Given the description of an element on the screen output the (x, y) to click on. 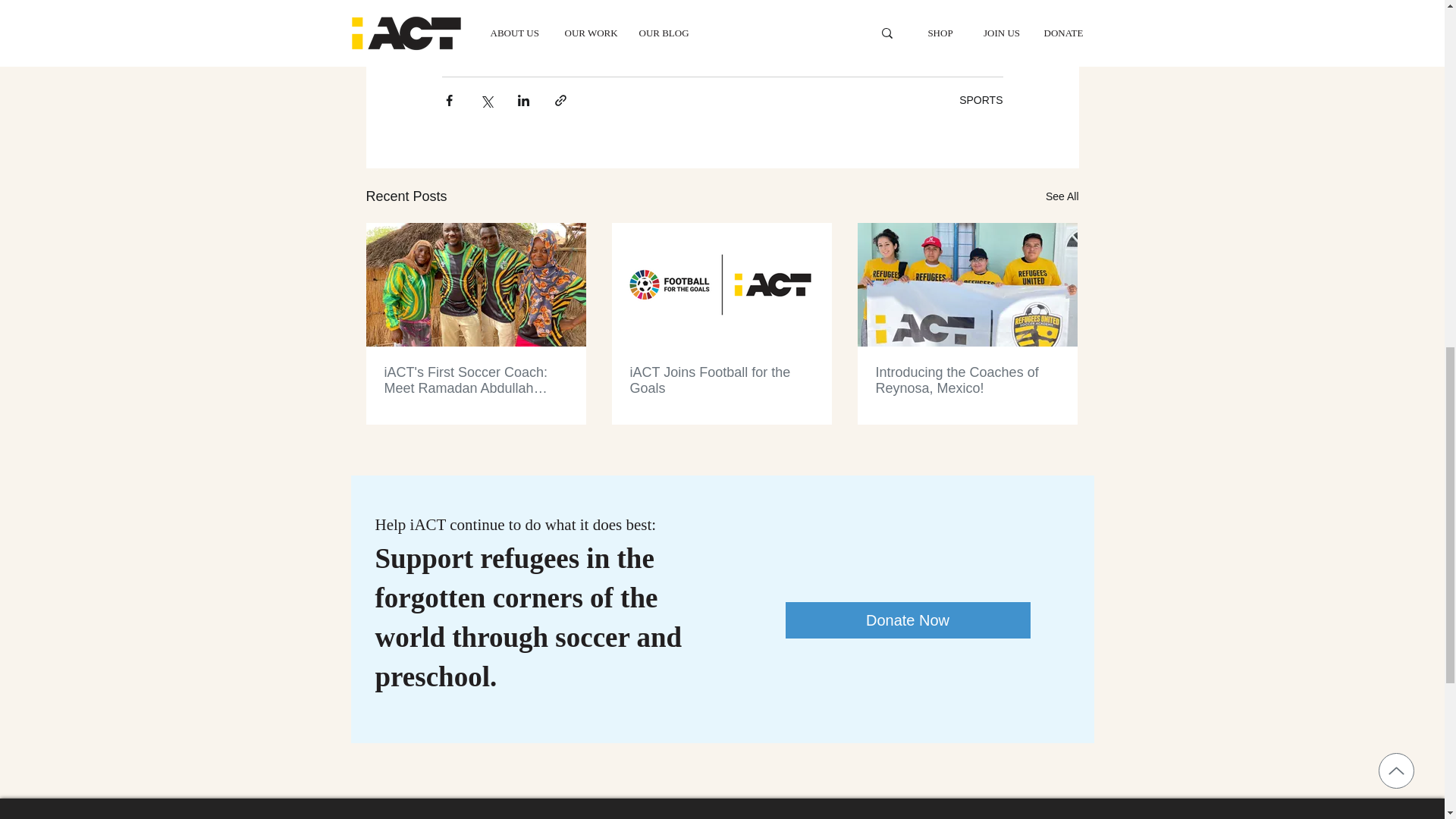
Introducing the Coaches of Reynosa, Mexico! (966, 380)
iACT Joins Football for the Goals (720, 380)
SPORTS (981, 100)
Learn more about RUSA and how you could help. (721, 20)
Donate Now (908, 619)
See All (1061, 196)
iACT's First Soccer Coach: Meet Ramadan Abdullah Abakar (475, 380)
